Given the description of an element on the screen output the (x, y) to click on. 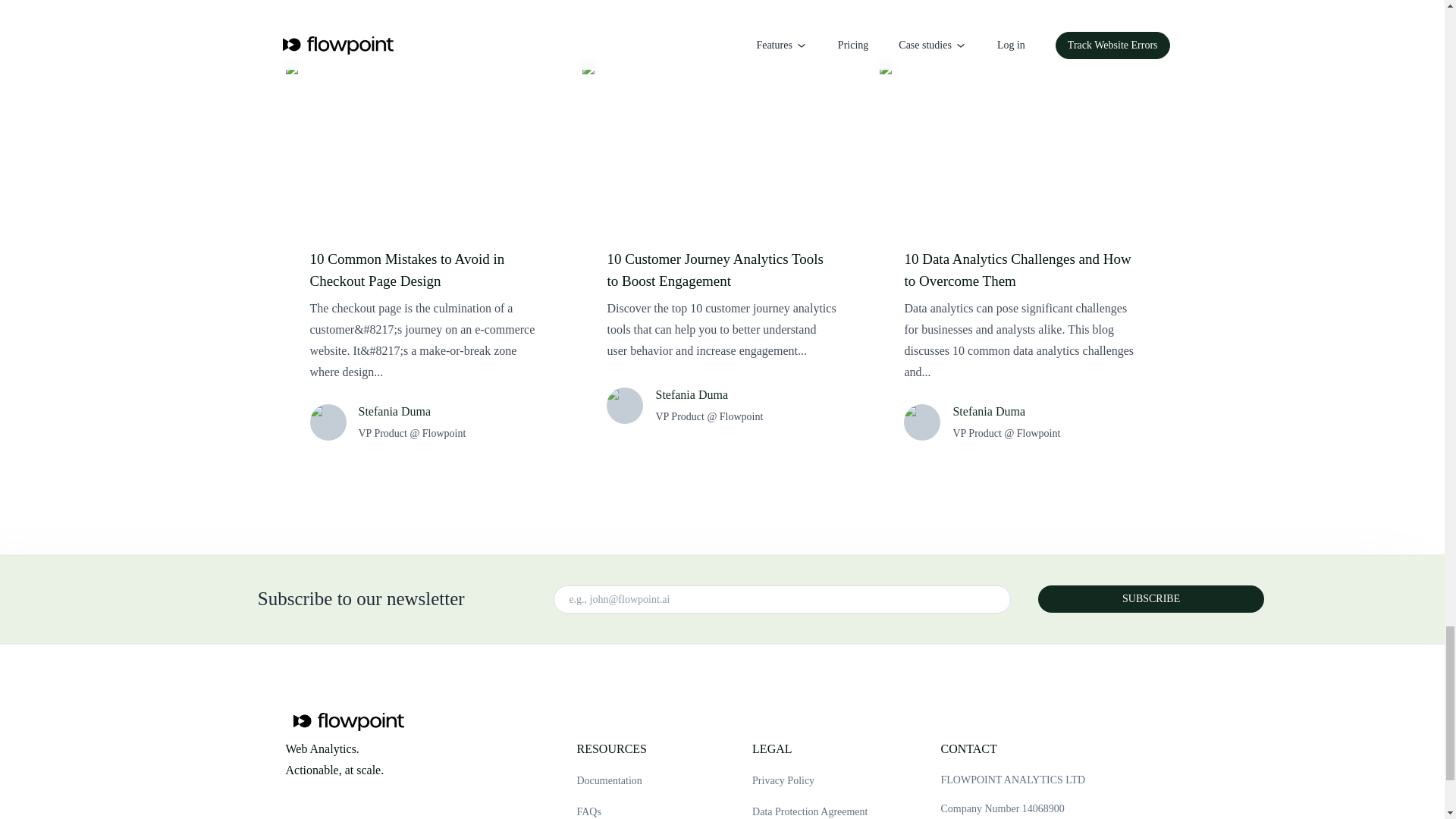
SUBSCRIBE (1150, 598)
Documentation (612, 781)
Data Protection Agreement (809, 811)
Privacy Policy (809, 781)
10 Common Mistakes to Avoid in Checkout Page Design (424, 269)
10 Data Analytics Challenges and How to Overcome Them (1019, 269)
FAQs (612, 811)
10 Customer Journey Analytics Tools to Boost Engagement (722, 269)
